Given the description of an element on the screen output the (x, y) to click on. 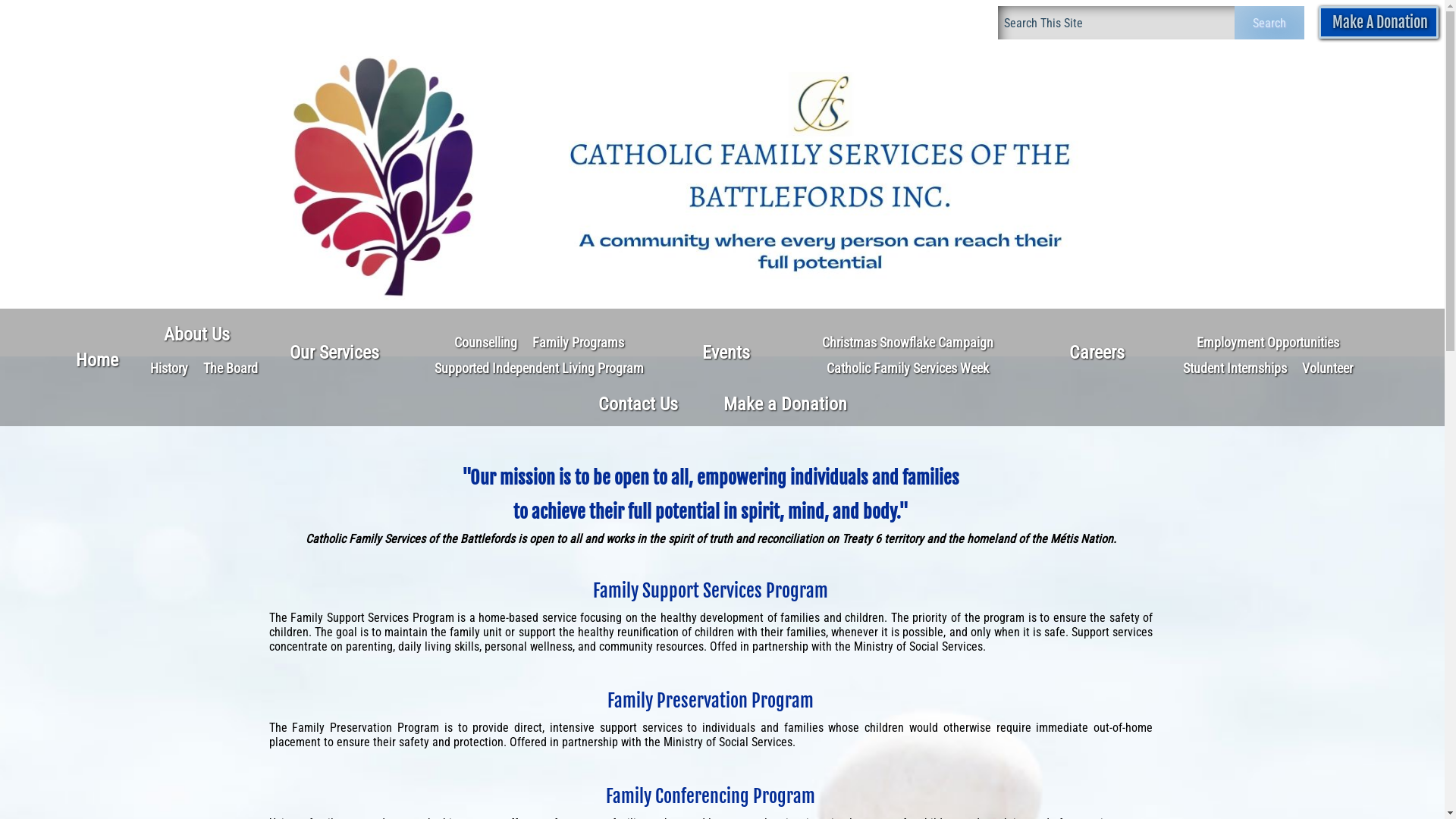
The Board Element type: text (230, 367)
Volunteer Element type: text (1327, 367)
Home Element type: text (96, 360)
Counselling Element type: text (484, 342)
Search Element type: text (1269, 22)
   Element type: text (1183, 437)
Careers Element type: text (1096, 352)
Family Programs Element type: text (577, 342)
Employment Opportunities Element type: text (1267, 342)
Make a Donation Element type: text (785, 404)
Student Internships Element type: text (1234, 367)
About Us Element type: text (196, 334)
Christmas Snowflake Campaign Element type: text (907, 342)
History Element type: text (168, 367)
Our Services Element type: text (334, 352)
Events Element type: text (725, 352)
Make A Donation Element type: text (1378, 22)
Contact Us Element type: text (637, 404)
Catholic Family Services Week Element type: text (907, 367)
Supported Independent Living Program Element type: text (538, 367)
